Given the description of an element on the screen output the (x, y) to click on. 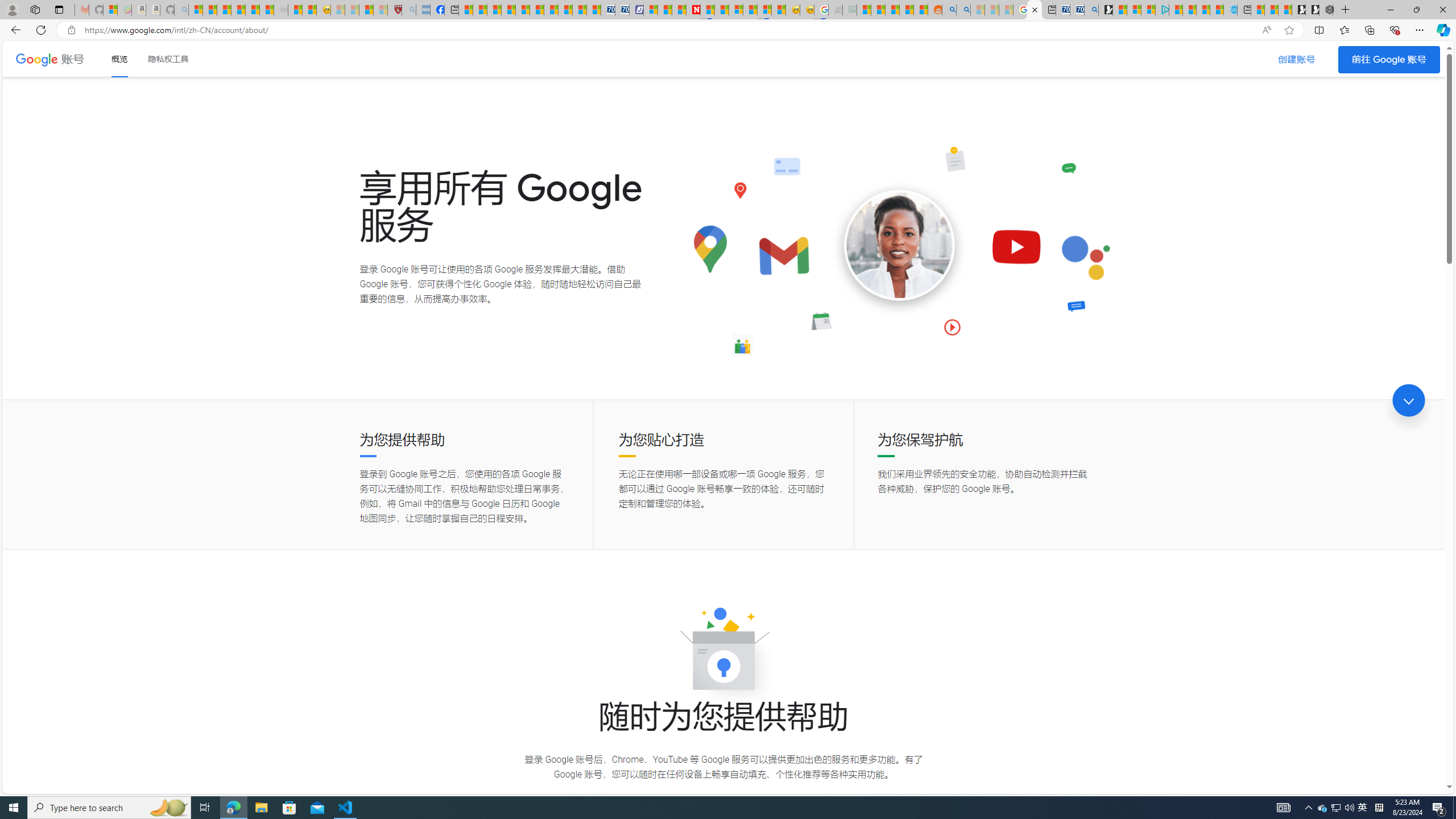
Combat Siege - Sleeping (280, 9)
